Given the description of an element on the screen output the (x, y) to click on. 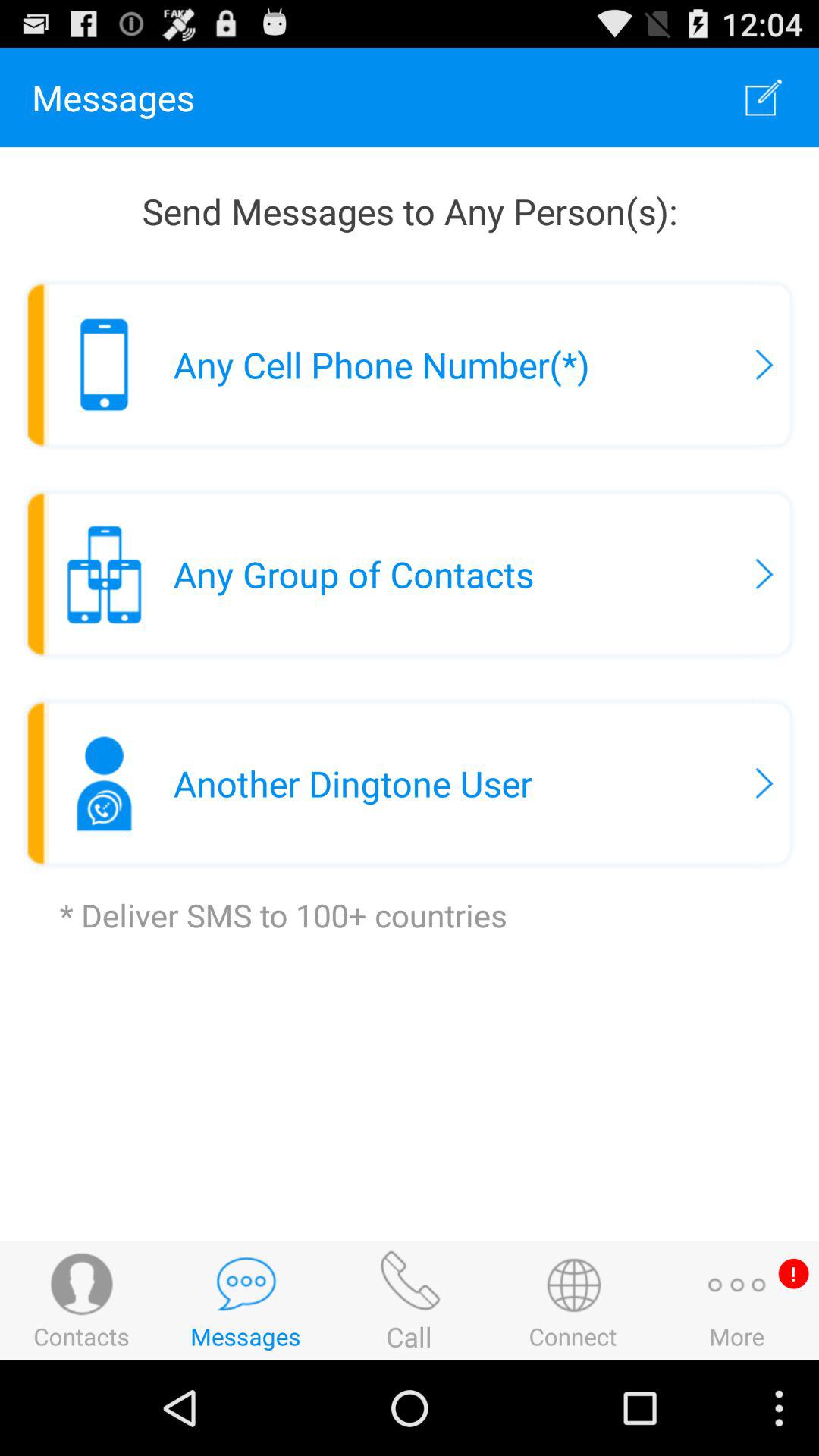
write message (763, 97)
